Given the description of an element on the screen output the (x, y) to click on. 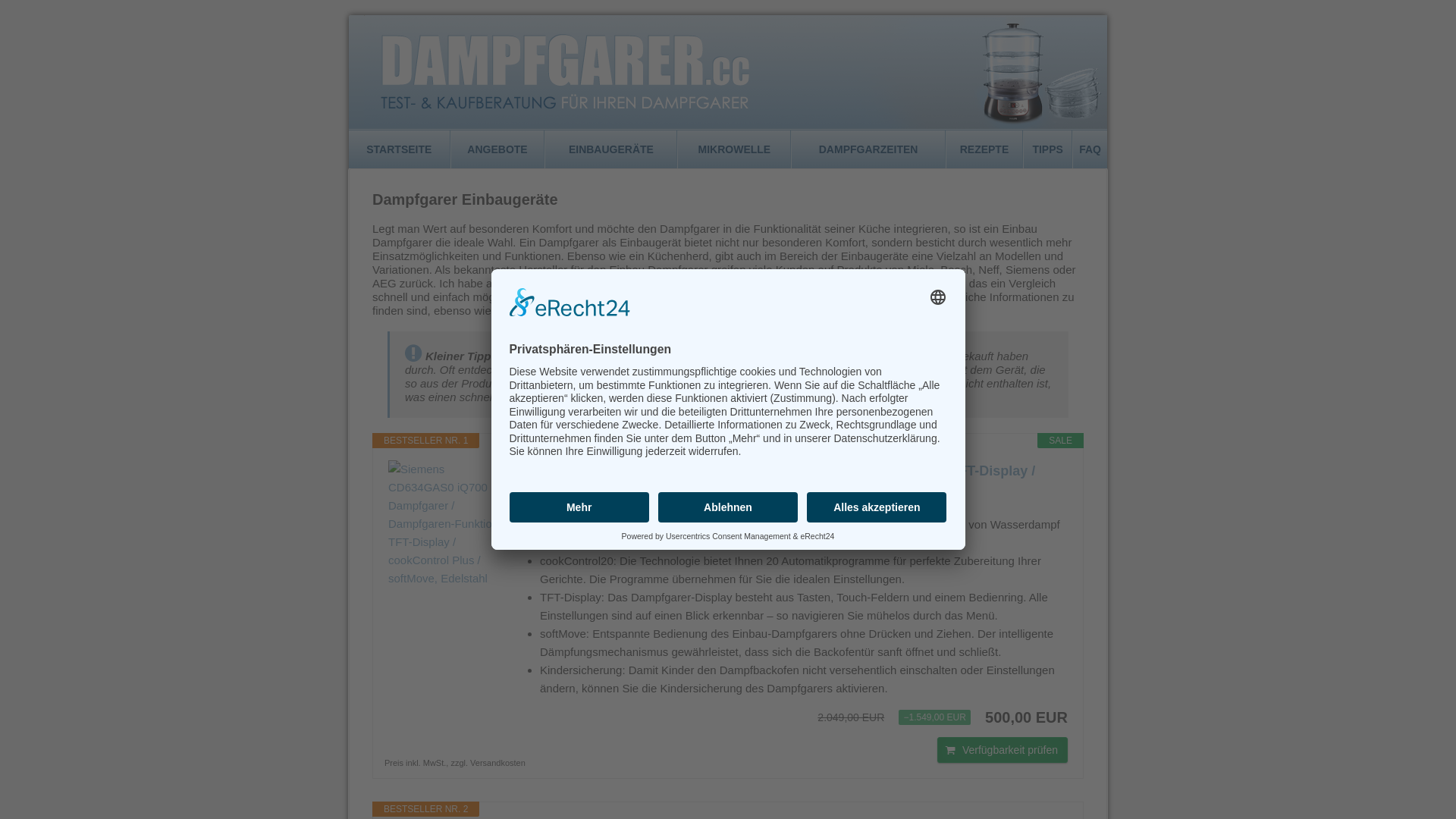
MIKROWELLE Element type: text (733, 149)
DAMPFGARZEITEN Element type: text (867, 149)
STARTSEITE Element type: text (398, 149)
REZEPTE Element type: text (984, 149)
ANGEBOTE Element type: text (497, 149)
FAQ Element type: text (1090, 149)
Dampfgarer Element type: text (727, 71)
TIPPS Element type: text (1047, 149)
